Given the description of an element on the screen output the (x, y) to click on. 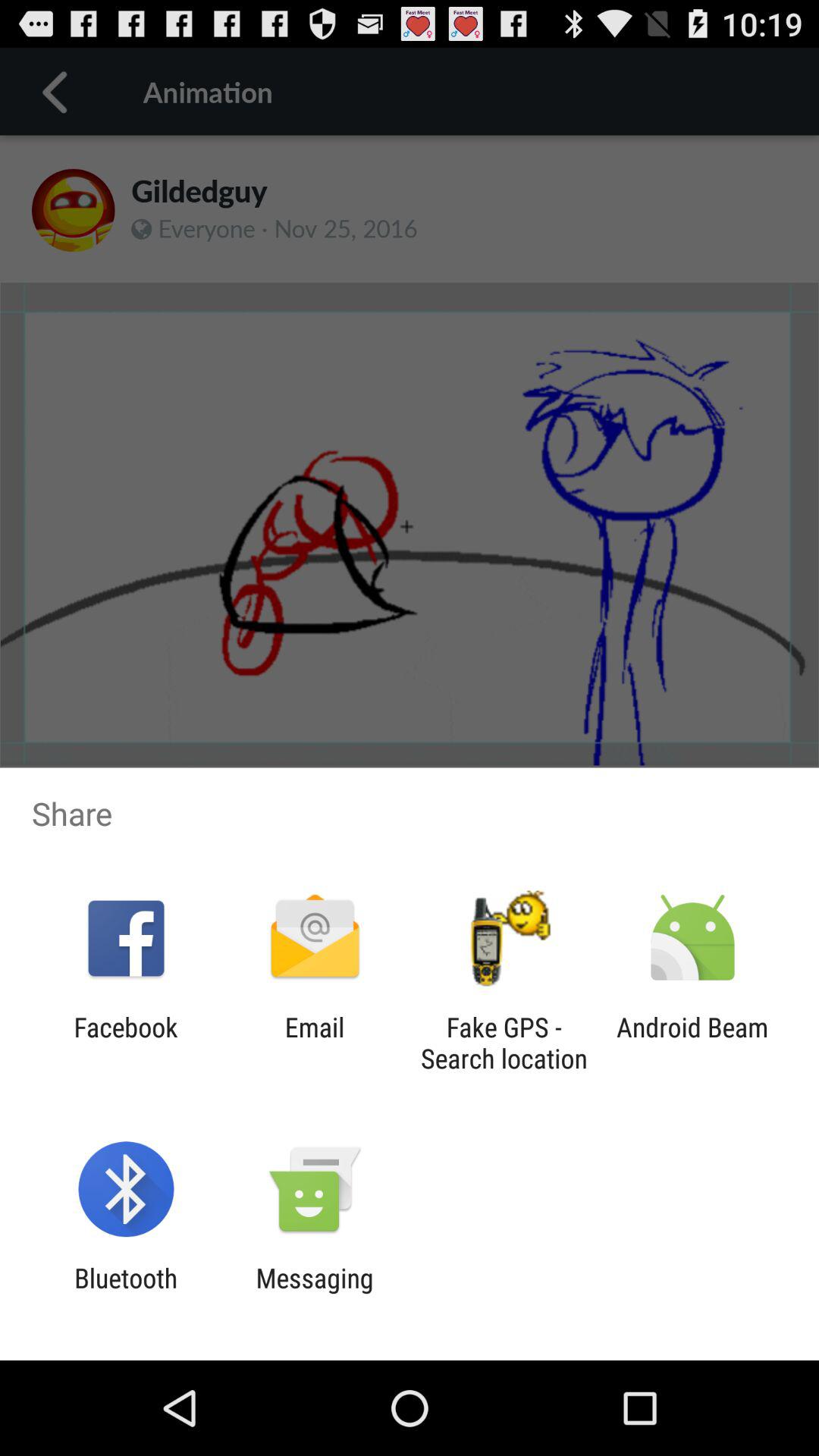
press icon to the right of fake gps search (692, 1042)
